Given the description of an element on the screen output the (x, y) to click on. 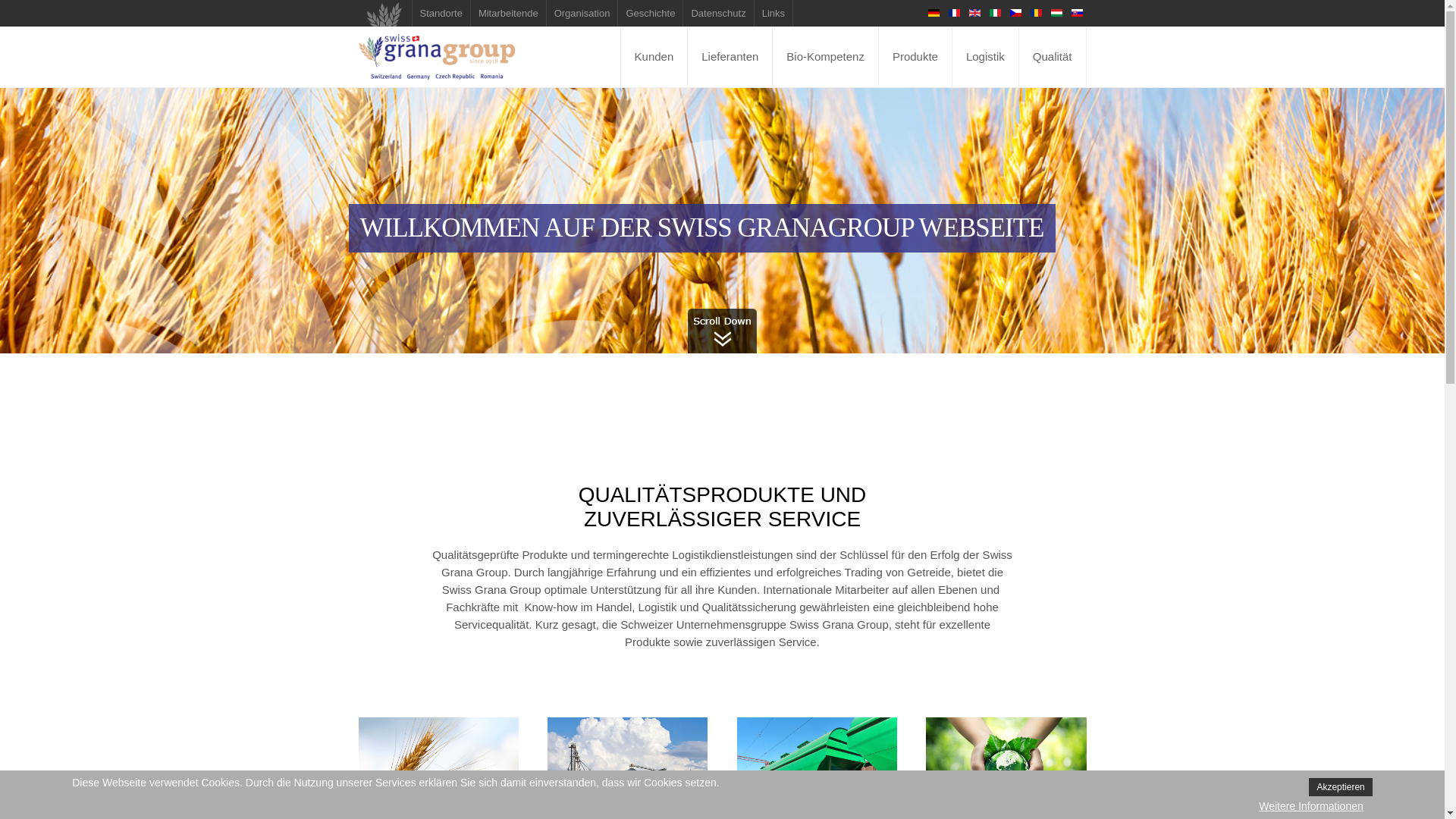
Lieferanten Element type: text (729, 56)
Organisation Element type: text (582, 13)
Deutsch Element type: hover (933, 12)
English (UK) Element type: hover (974, 12)
Geschichte Element type: text (650, 13)
Bio-Kompetenz Element type: text (825, 56)
Mitarbeitende Element type: text (508, 13)
Slowakisch Element type: hover (1076, 12)
Kunden Element type: text (654, 56)
Weitere Informationen Element type: text (1310, 806)
Logistik Element type: text (985, 56)
Czech Republic Element type: hover (1015, 12)
Produkte Element type: text (915, 56)
Links Element type: text (773, 13)
Italian (IT)  Element type: hover (994, 12)
Standorte Element type: text (441, 13)
FR Element type: hover (953, 12)
Datenschutz Element type: text (718, 13)
Akzeptieren Element type: text (1339, 787)
Hungarian Element type: hover (1056, 12)
